Given the description of an element on the screen output the (x, y) to click on. 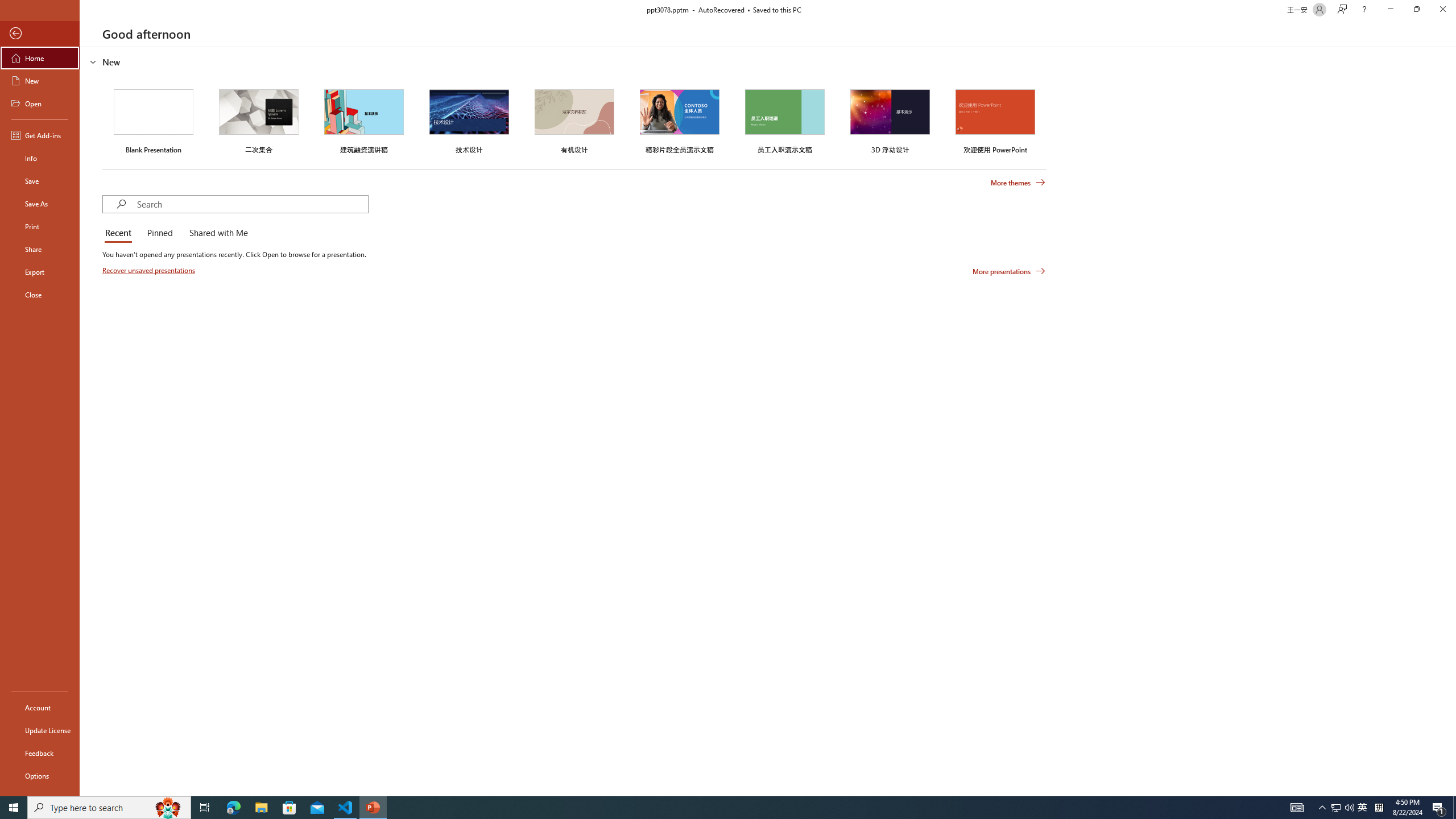
More themes (1018, 182)
Recover unsaved presentations (149, 270)
Feedback (40, 753)
Options (40, 775)
Print (40, 225)
Class: NetUIScrollBar (1450, 421)
Shared with Me (215, 233)
Update License (40, 730)
